Given the description of an element on the screen output the (x, y) to click on. 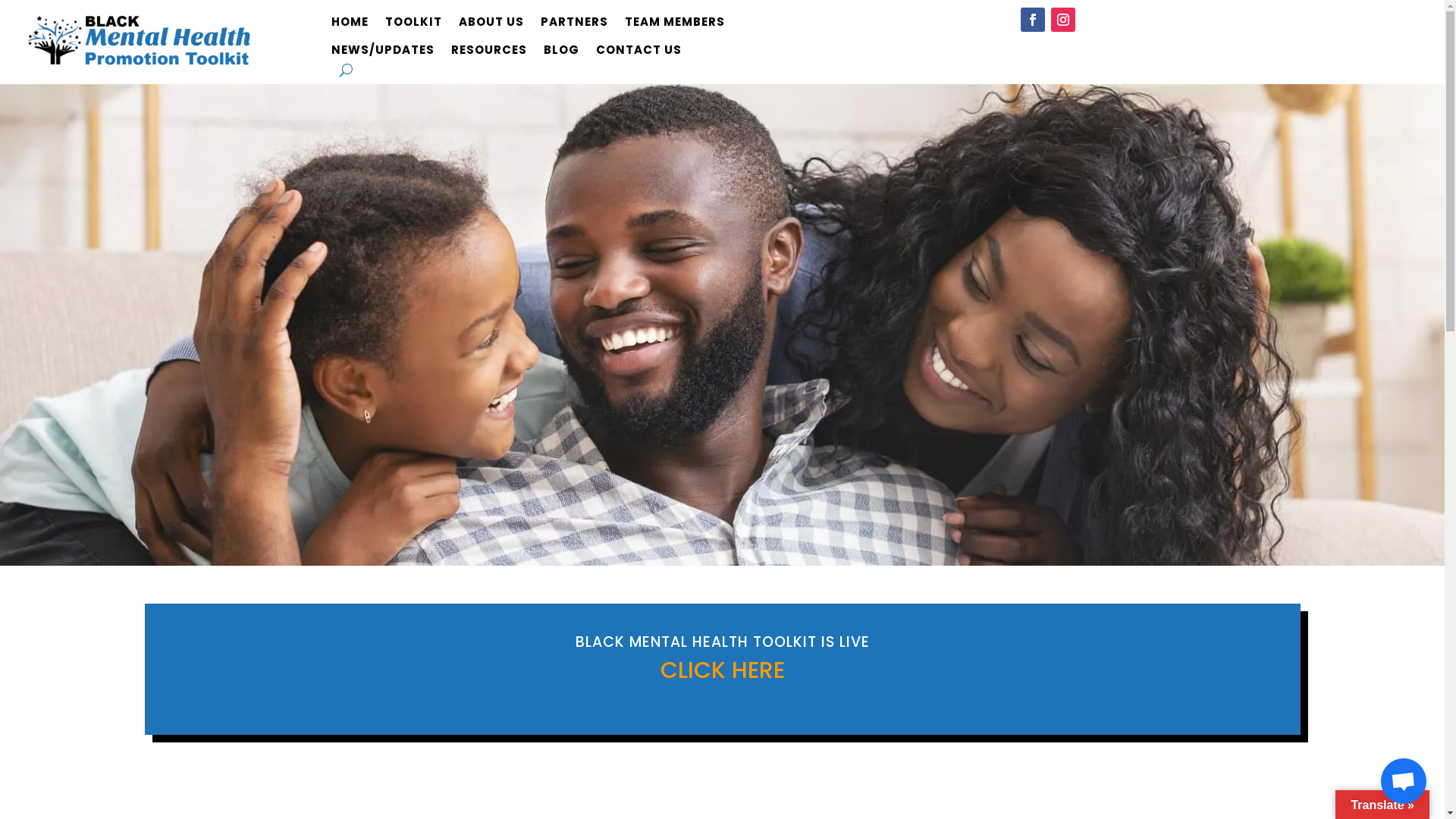
HOME Element type: text (349, 24)
ABOUT US Element type: text (491, 24)
Follow on Instagram Element type: hover (1063, 19)
PARTNERS Element type: text (574, 24)
CLICK HERE Element type: text (721, 670)
TOOLKIT Element type: text (413, 24)
NEWS/UPDATES Element type: text (382, 52)
TEAM MEMBERS Element type: text (674, 24)
BLOG Element type: text (561, 52)
Follow on Facebook Element type: hover (1032, 19)
RESOURCES Element type: text (489, 52)
CONTACT US Element type: text (638, 52)
